Given the description of an element on the screen output the (x, y) to click on. 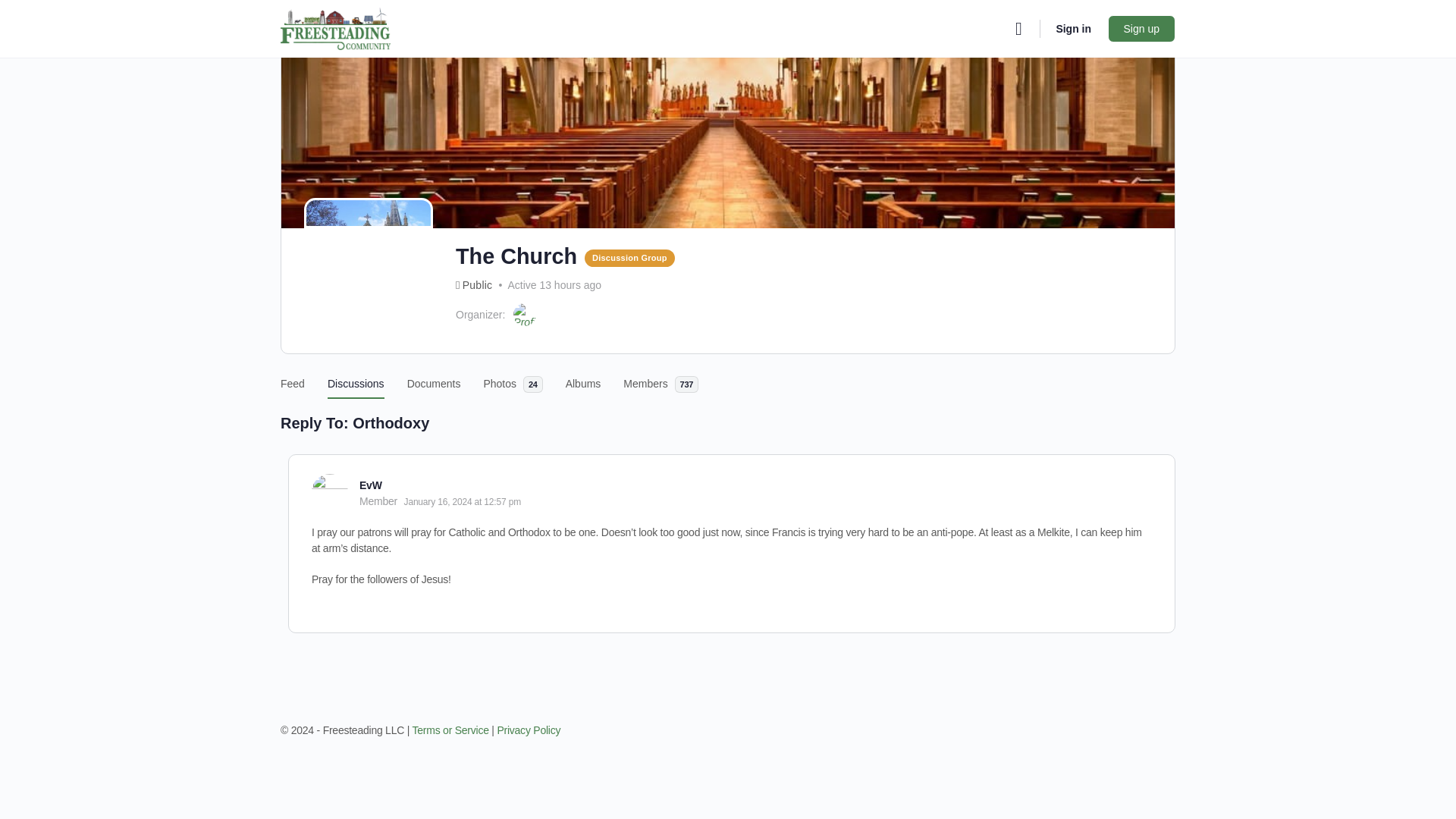
Privacy Policy  (529, 729)
Documents (434, 376)
View EvW's profile (329, 492)
Sign in (1073, 28)
View EvW's profile (370, 485)
Photos 24 (512, 376)
Members 737 (660, 376)
Albums (583, 376)
Discussions (355, 376)
Sign up (1141, 28)
